Given the description of an element on the screen output the (x, y) to click on. 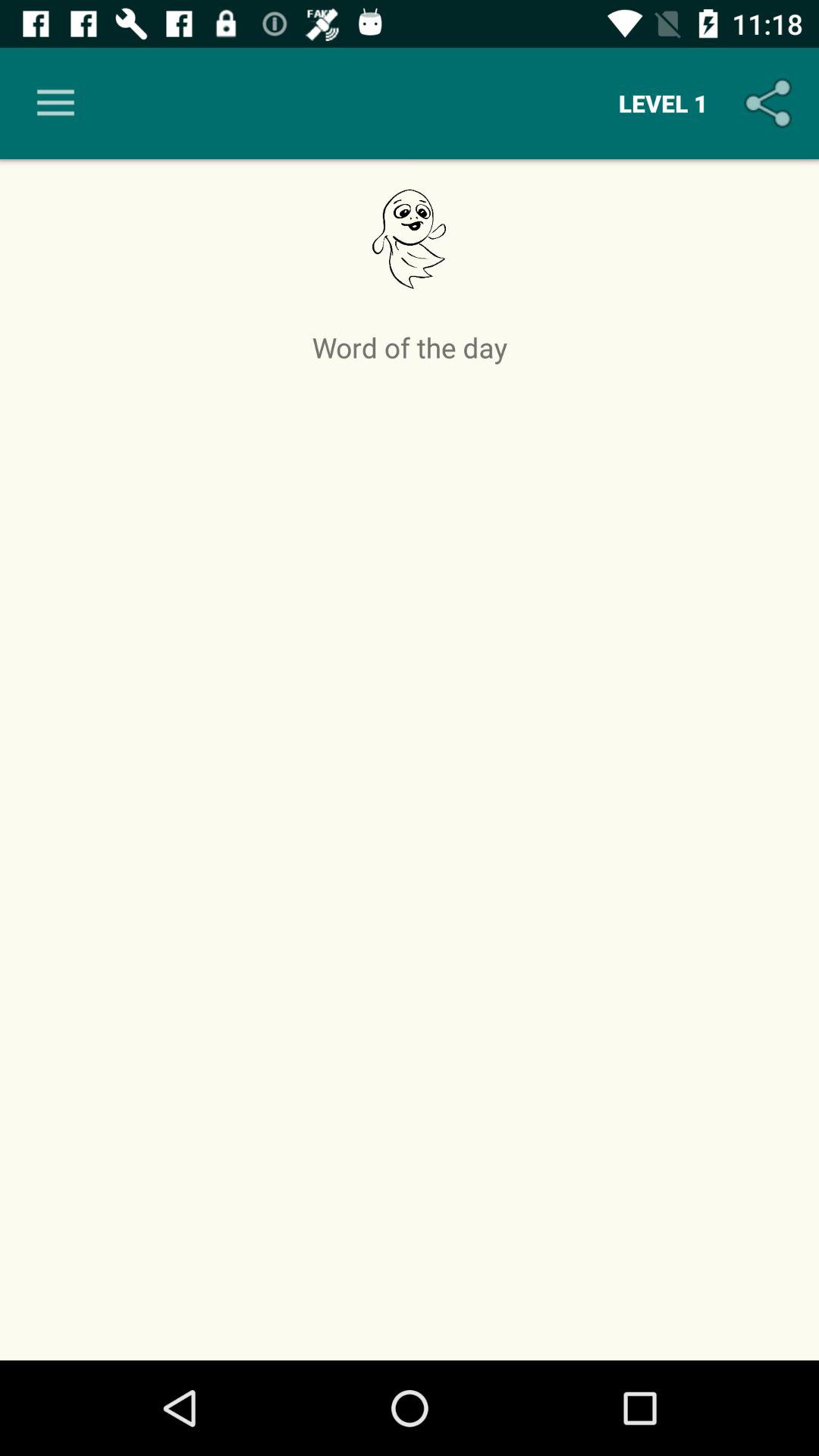
press level 1 item (662, 103)
